Given the description of an element on the screen output the (x, y) to click on. 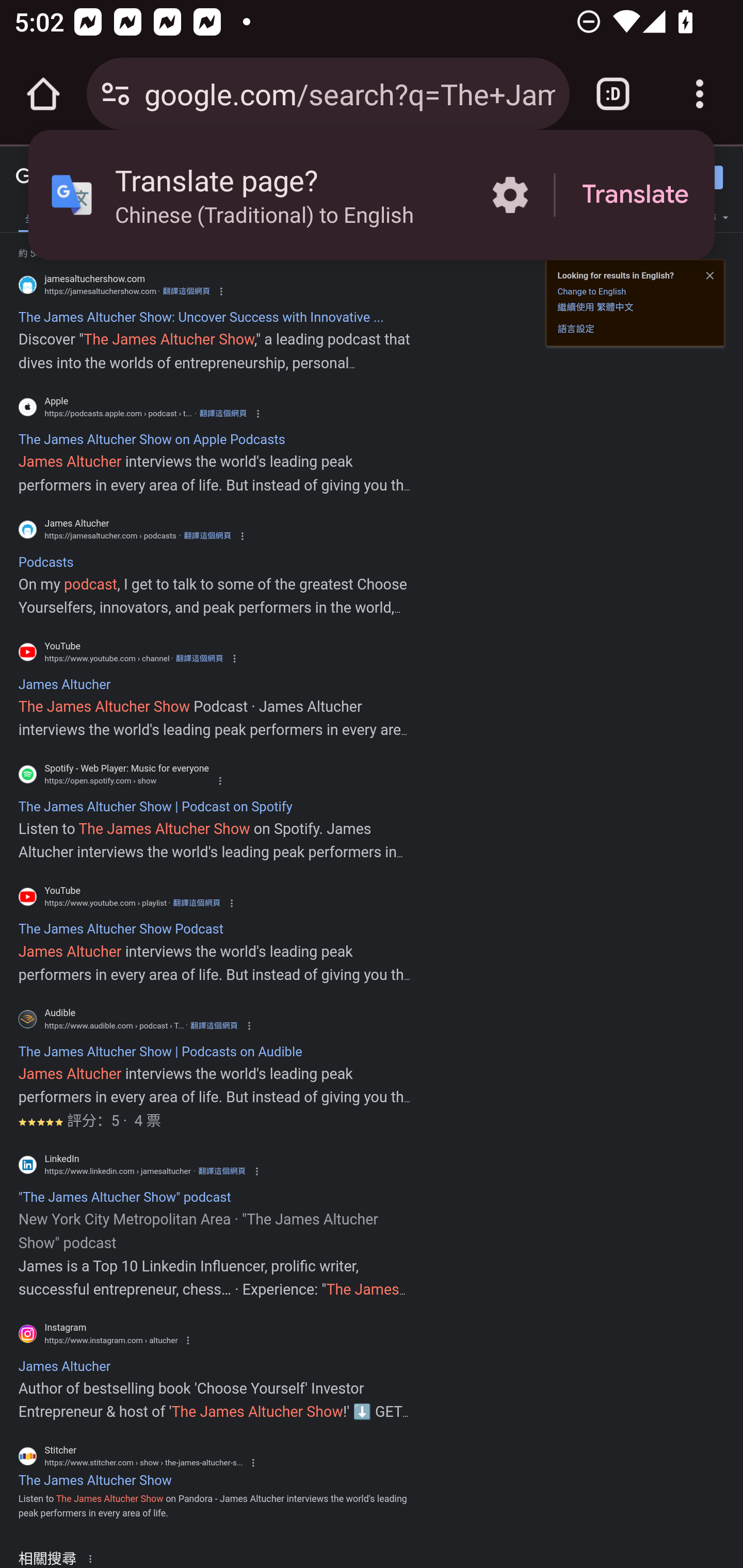
Open the home page (43, 93)
Connection is secure (115, 93)
Switch or close tabs (612, 93)
Customize and control Google Chrome (699, 93)
Translate (634, 195)
More options in the Translate page? (509, 195)
翻譯這個網頁 (185, 291)
Change to English (591, 291)
繼續使用 繁體中文 繼續使用  繁體中文 (595, 306)
語言設定 (576, 328)
翻譯這個網頁 (223, 413)
翻譯這個網頁 (207, 535)
翻譯這個網頁 (199, 658)
翻譯這個網頁 (196, 902)
翻譯這個網頁 (213, 1025)
翻譯這個網頁 (221, 1171)
關於此結果 (93, 1557)
